Given the description of an element on the screen output the (x, y) to click on. 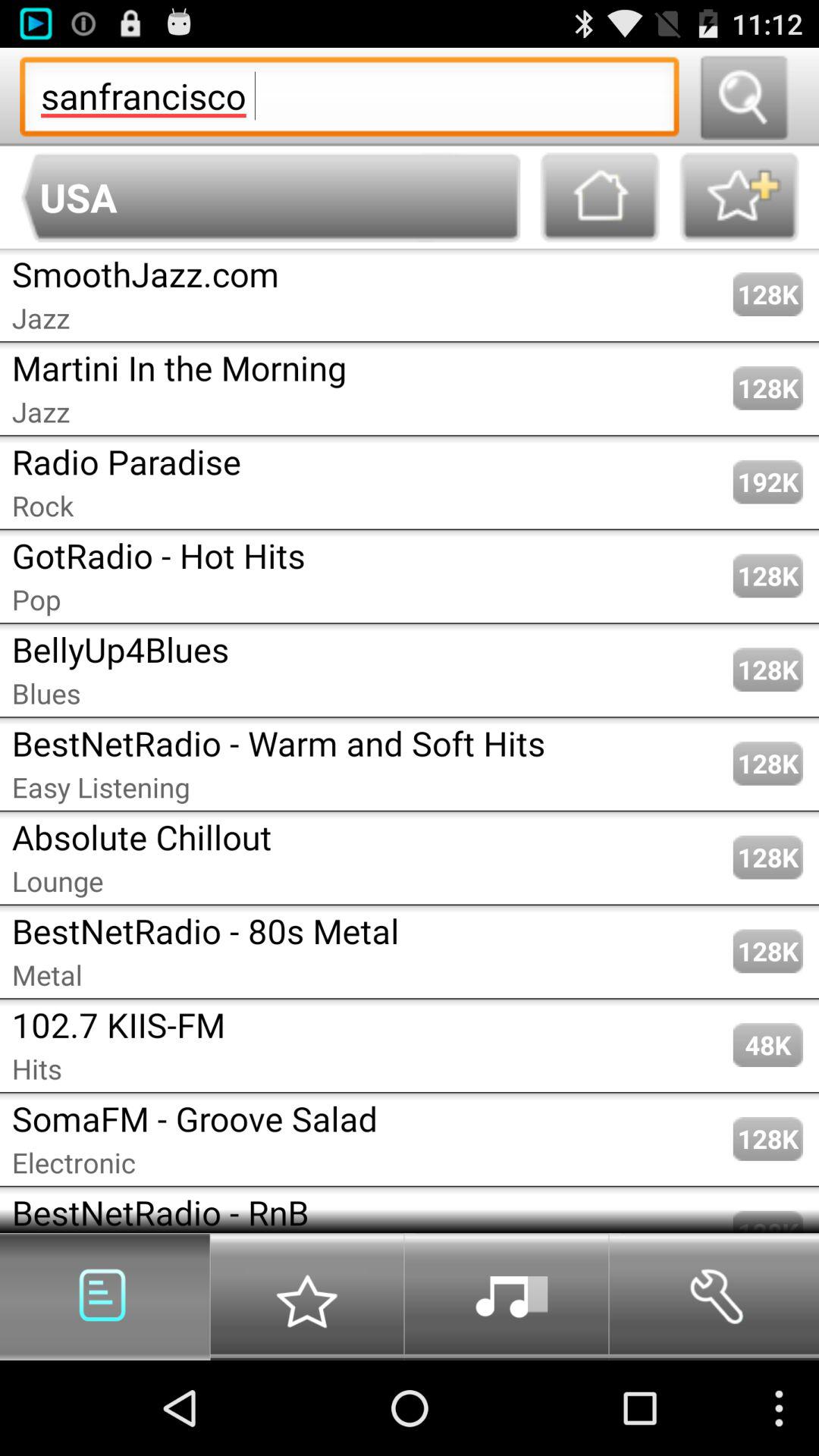
submit search (743, 96)
